Given the description of an element on the screen output the (x, y) to click on. 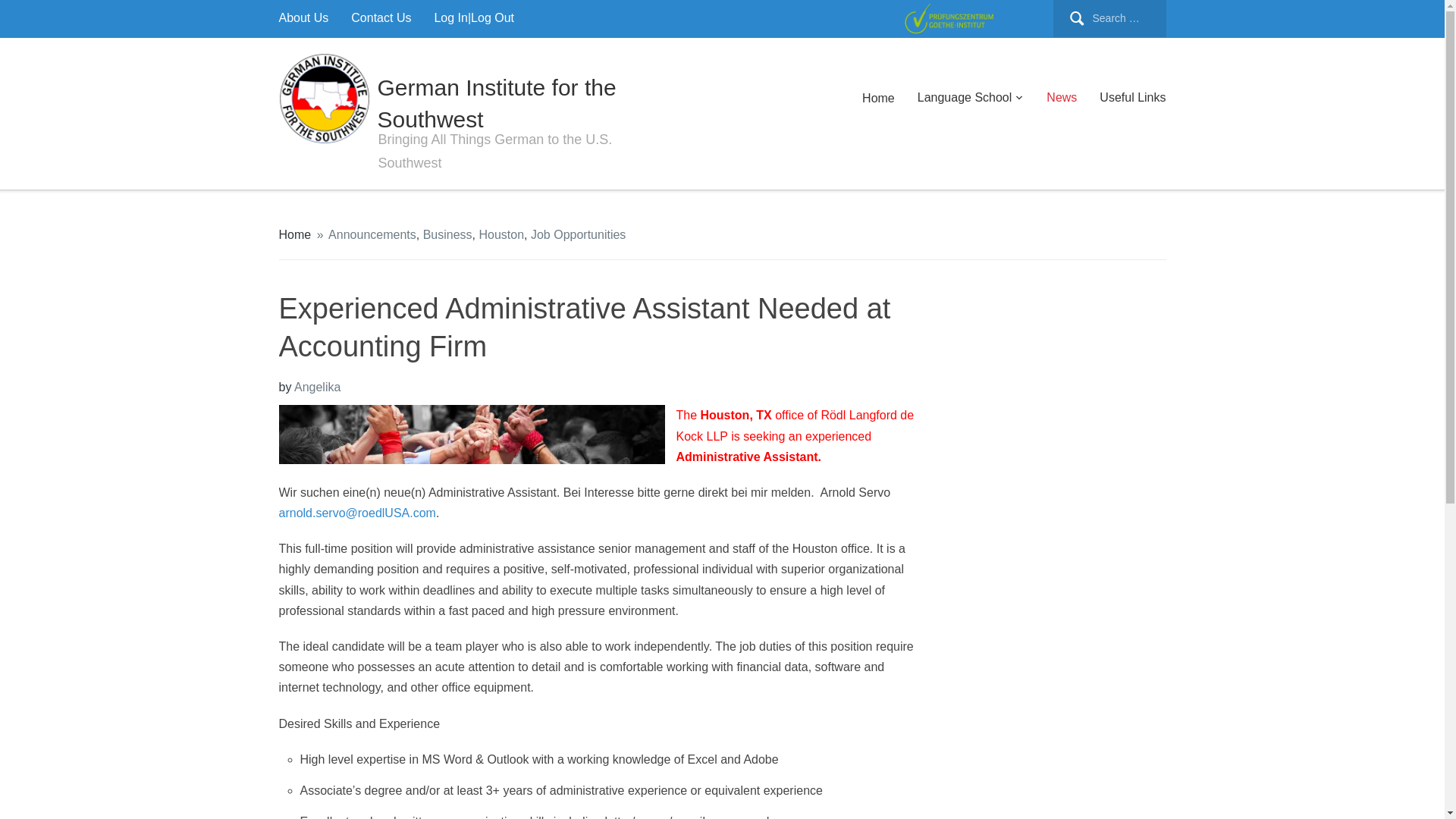
Home (878, 97)
Posts by Angelika (317, 386)
Home (295, 234)
About Us (304, 17)
Useful Links (1132, 97)
News (1061, 96)
Announcements (372, 234)
Search (40, 18)
Language School (971, 97)
Contact Us (380, 17)
